Given the description of an element on the screen output the (x, y) to click on. 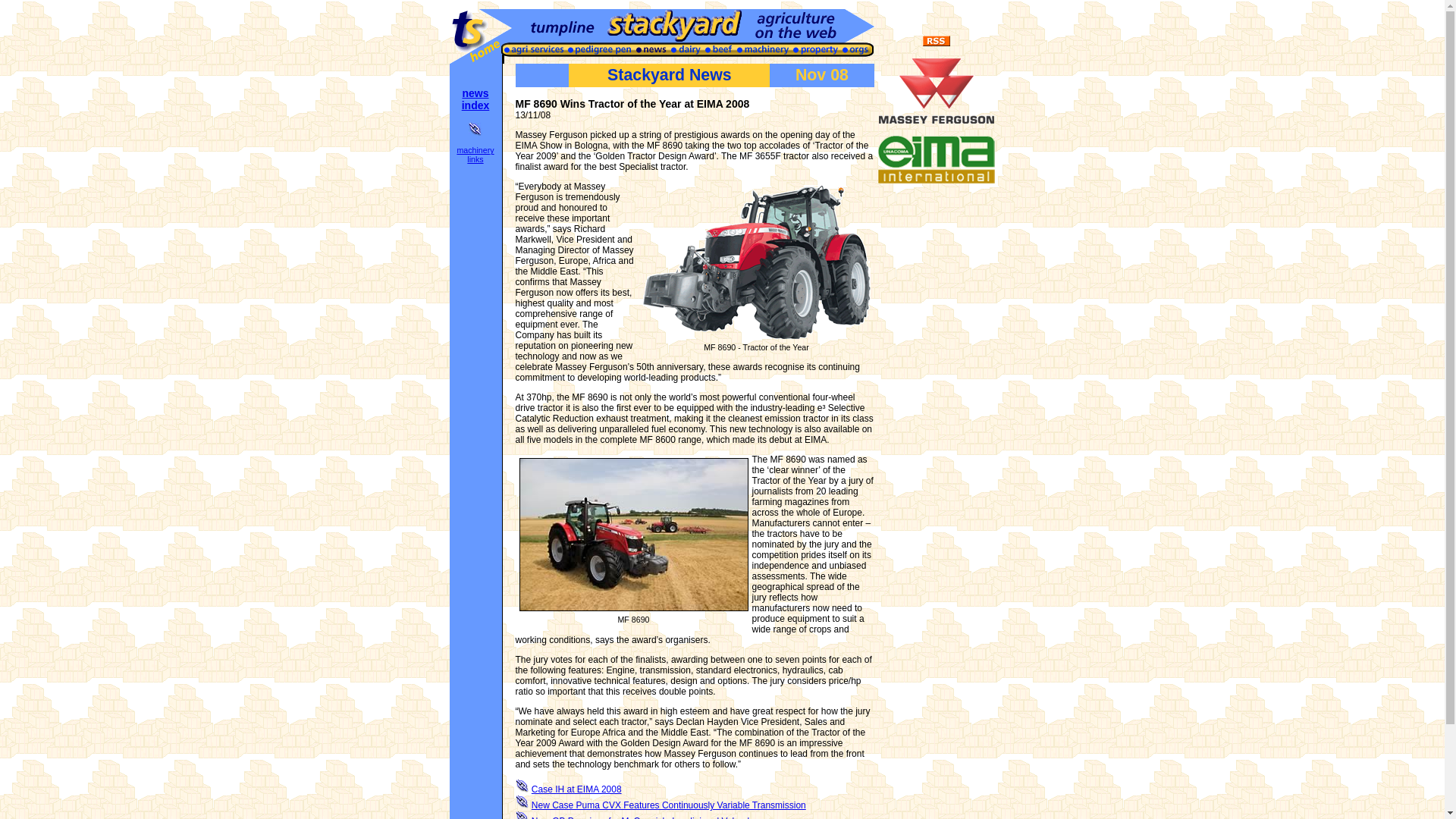
news index (475, 98)
machinery links (475, 154)
Case IH at EIMA 2008 (576, 788)
New GB Premises for McCormick, Landini and Valpadana (647, 817)
